Given the description of an element on the screen output the (x, y) to click on. 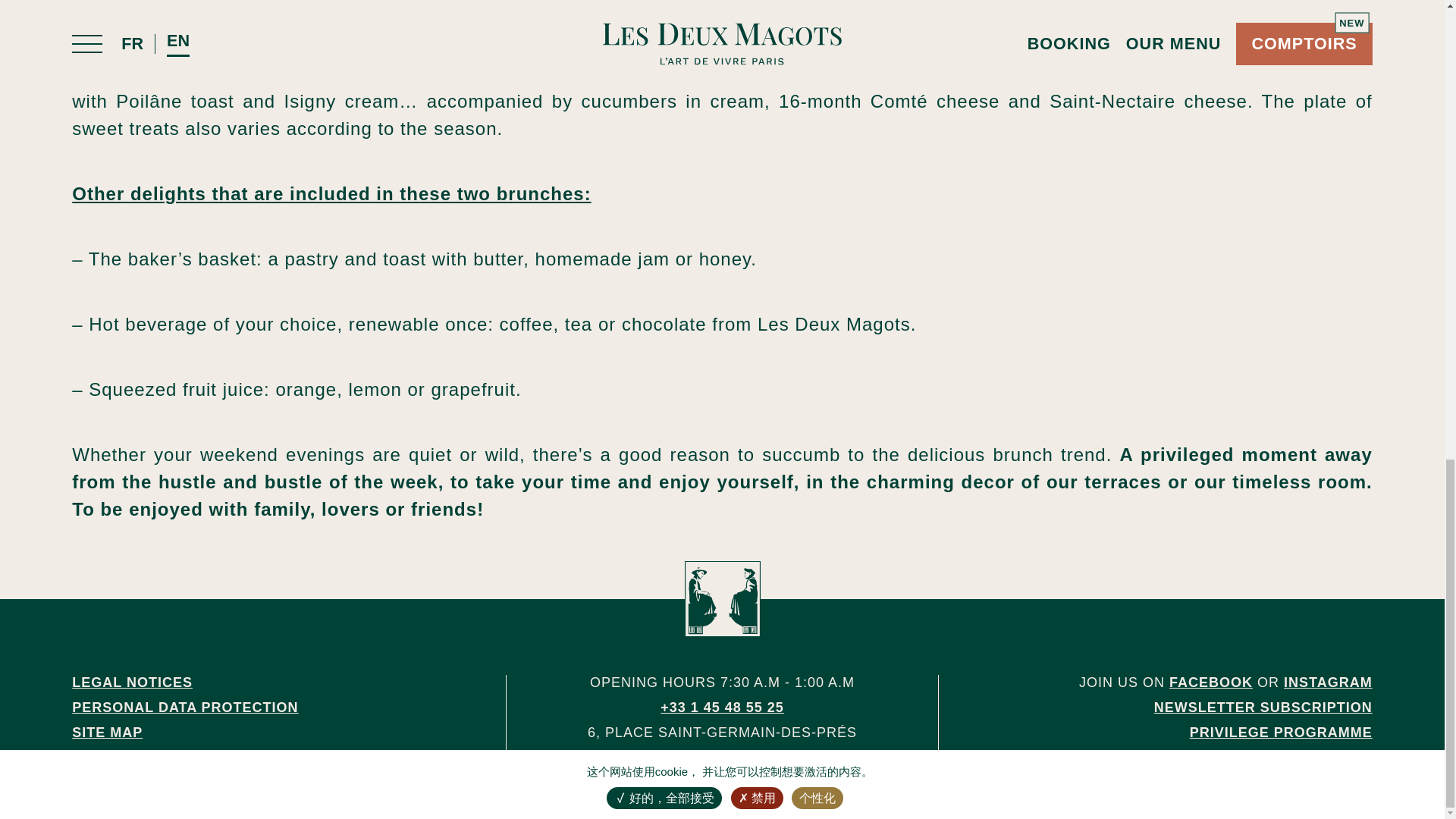
YOUR OPINION MATTERS TO US (1254, 782)
LEGAL NOTICES (131, 682)
SITE MAP (106, 732)
PRIVILEGE PROGRAMME (1281, 732)
NEWSLETTER SUBSCRIPTION (1263, 707)
PERSONAL DATA PROTECTION (184, 707)
HOW TO CONTACT US (1291, 757)
INSTAGRAM (1328, 682)
FACEBOOK (1210, 682)
